Given the description of an element on the screen output the (x, y) to click on. 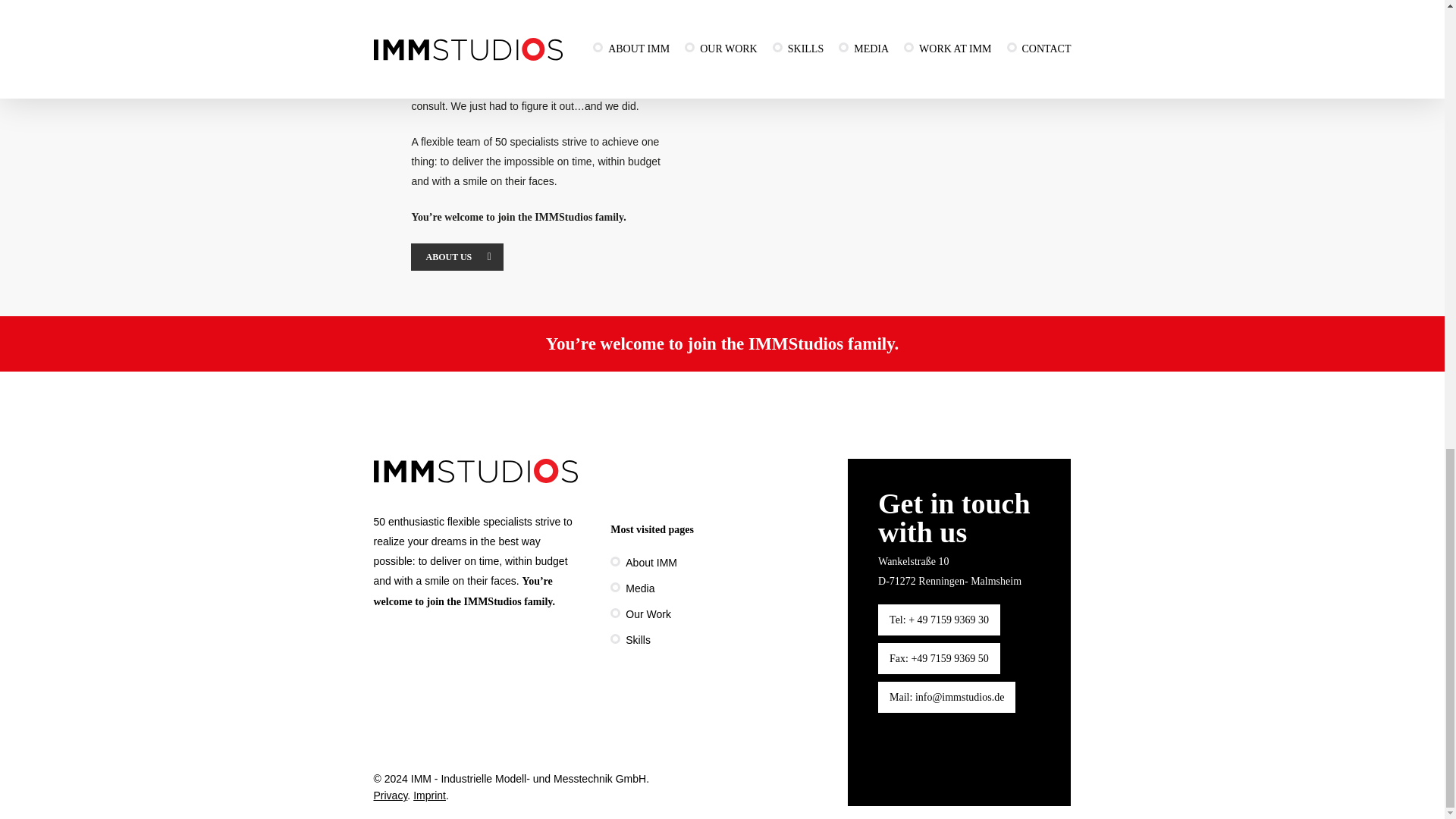
Skills (721, 639)
Imprint (429, 795)
About IMM (721, 562)
Privacy (389, 795)
Our Work (721, 614)
Media (721, 588)
ABOUT US (456, 257)
